Given the description of an element on the screen output the (x, y) to click on. 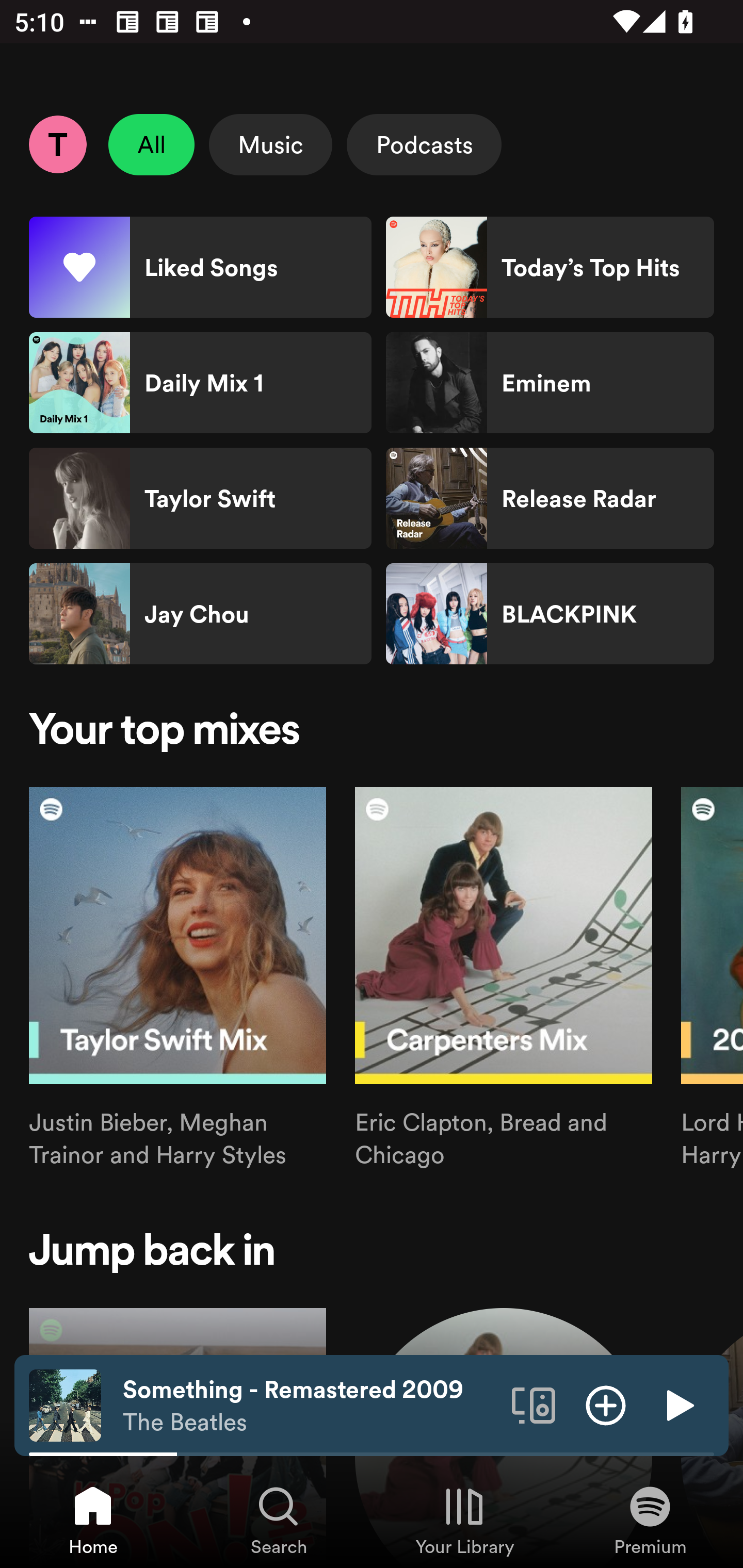
Profile (57, 144)
All Unselect All (151, 144)
Music Select Music (270, 144)
Podcasts Select Podcasts (423, 144)
Liked Songs Shortcut Liked Songs (199, 267)
Today’s Top Hits Shortcut Today’s Top Hits (549, 267)
Daily Mix 1 Shortcut Daily Mix 1 (199, 382)
Eminem Shortcut Eminem (549, 382)
Taylor Swift Shortcut Taylor Swift (199, 498)
Release Radar Shortcut Release Radar (549, 498)
Jay Chou Shortcut Jay Chou (199, 613)
BLACKPINK Shortcut BLACKPINK (549, 613)
Something - Remastered 2009 The Beatles (309, 1405)
The cover art of the currently playing track (64, 1404)
Connect to a device. Opens the devices menu (533, 1404)
Add item (605, 1404)
Play (677, 1404)
Home, Tab 1 of 4 Home Home (92, 1519)
Search, Tab 2 of 4 Search Search (278, 1519)
Your Library, Tab 3 of 4 Your Library Your Library (464, 1519)
Premium, Tab 4 of 4 Premium Premium (650, 1519)
